Given the description of an element on the screen output the (x, y) to click on. 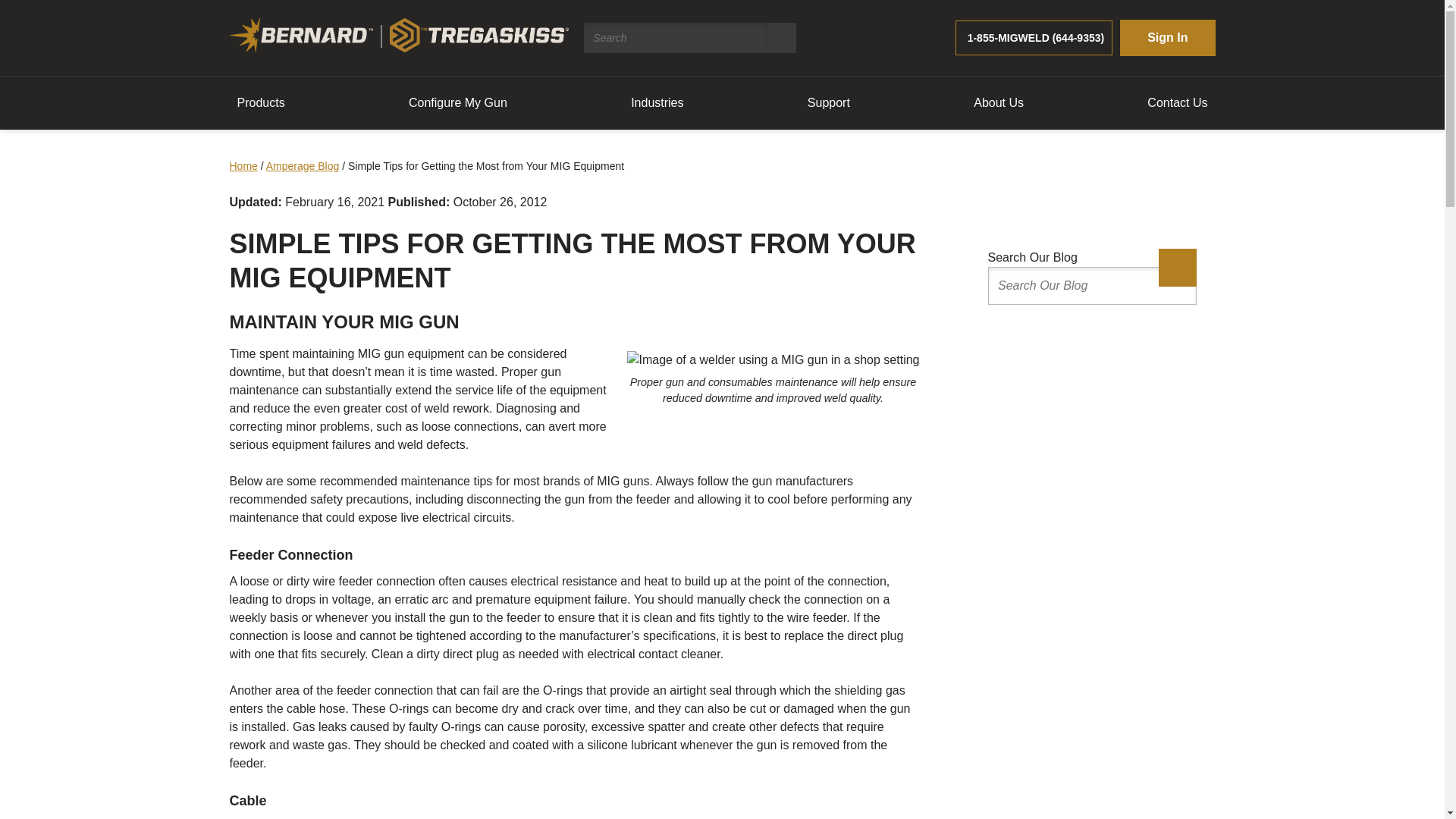
SEARCH (782, 37)
Search for: (675, 37)
Products (260, 102)
Sign In (1166, 37)
